Given the description of an element on the screen output the (x, y) to click on. 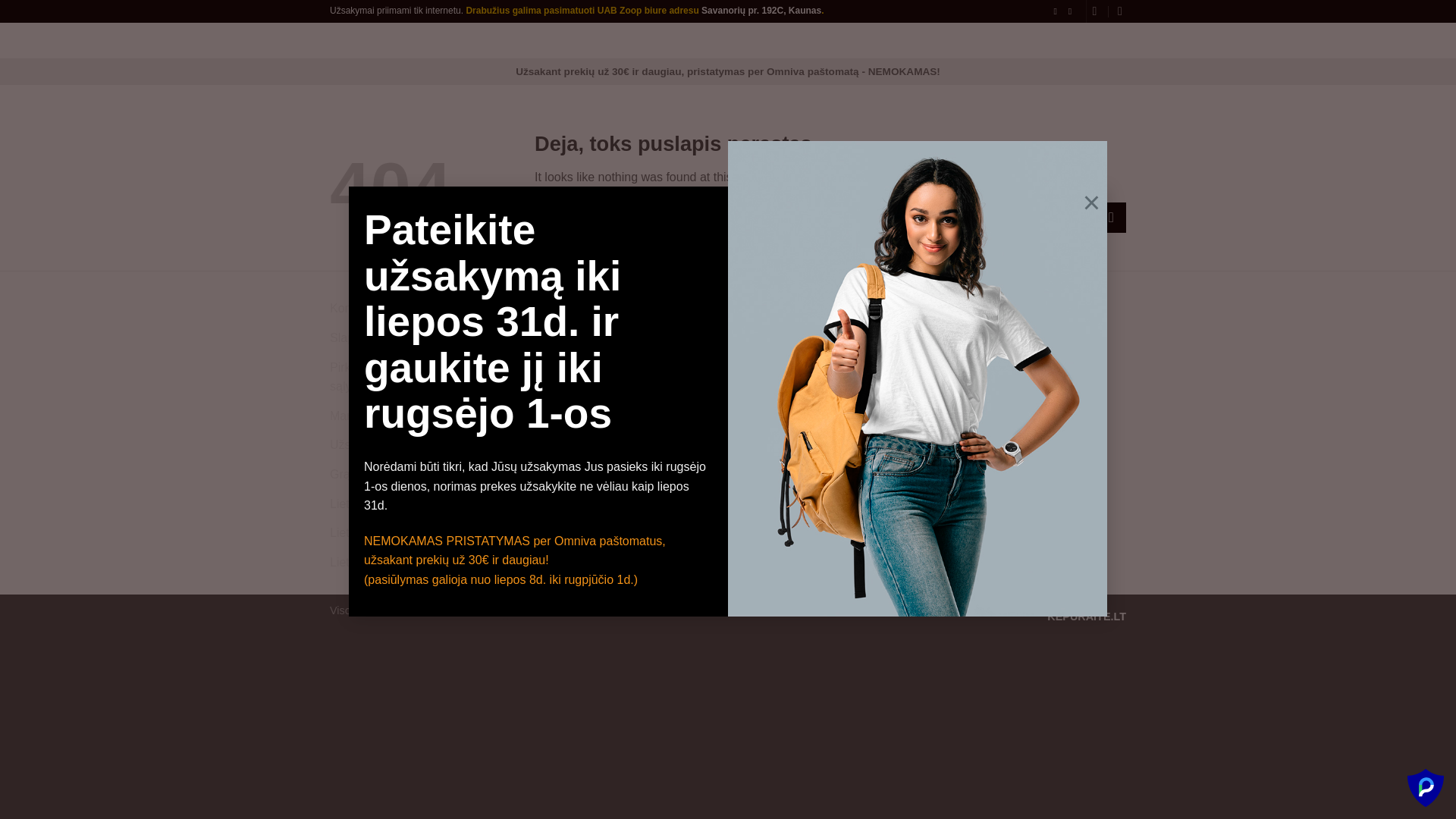
Mano paskyra (368, 416)
Kontaktai (355, 308)
Kauno Jono Jablonskio gimnazija (624, 337)
Lietuvos progimnazijos (391, 562)
VDU klasikinio ugdymo mokykla (620, 367)
Suzuki progimnazija (588, 396)
Lietuvos gimnazijos (382, 503)
